Given the description of an element on the screen output the (x, y) to click on. 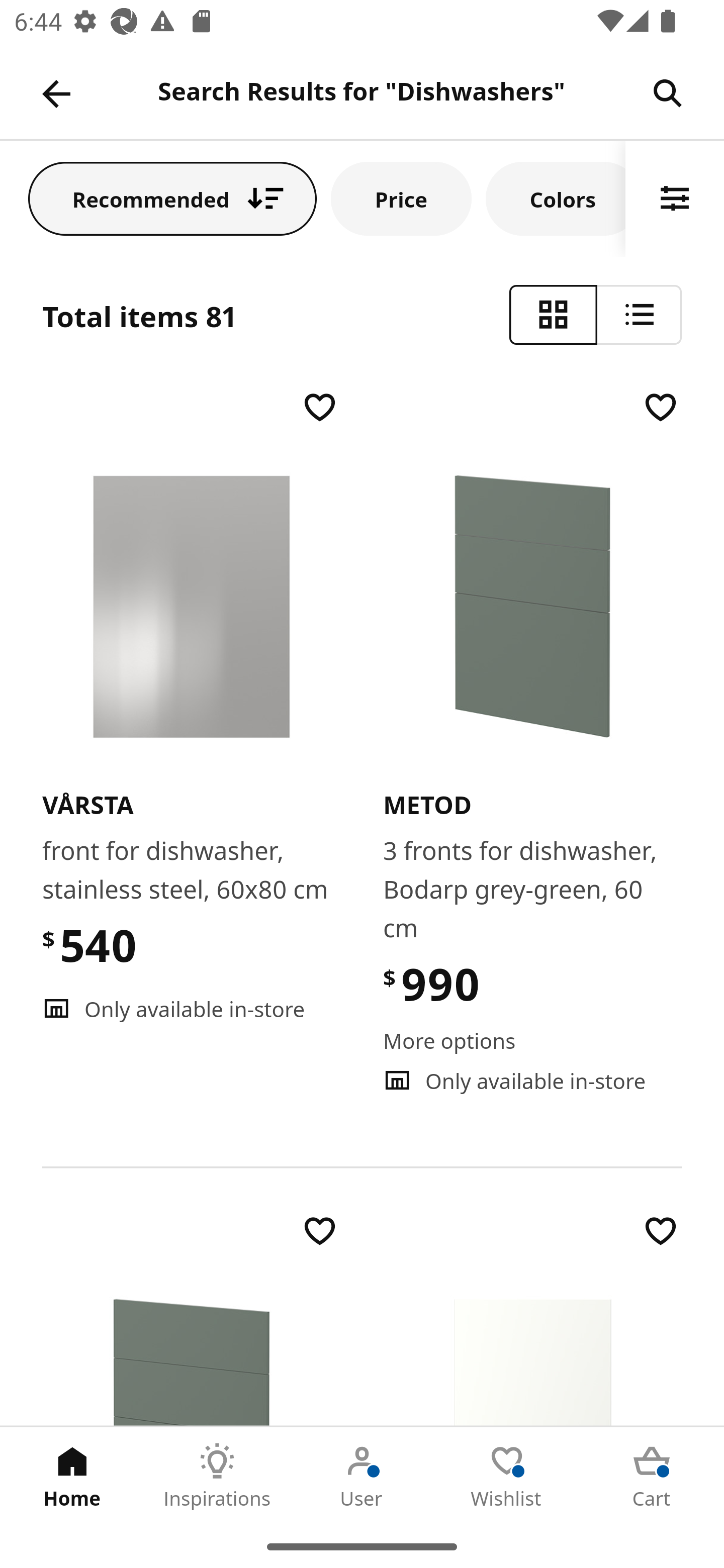
Recommended (172, 198)
Price (400, 198)
Colors (555, 198)
Home
Tab 1 of 5 (72, 1476)
Inspirations
Tab 2 of 5 (216, 1476)
User
Tab 3 of 5 (361, 1476)
Wishlist
Tab 4 of 5 (506, 1476)
Cart
Tab 5 of 5 (651, 1476)
